Given the description of an element on the screen output the (x, y) to click on. 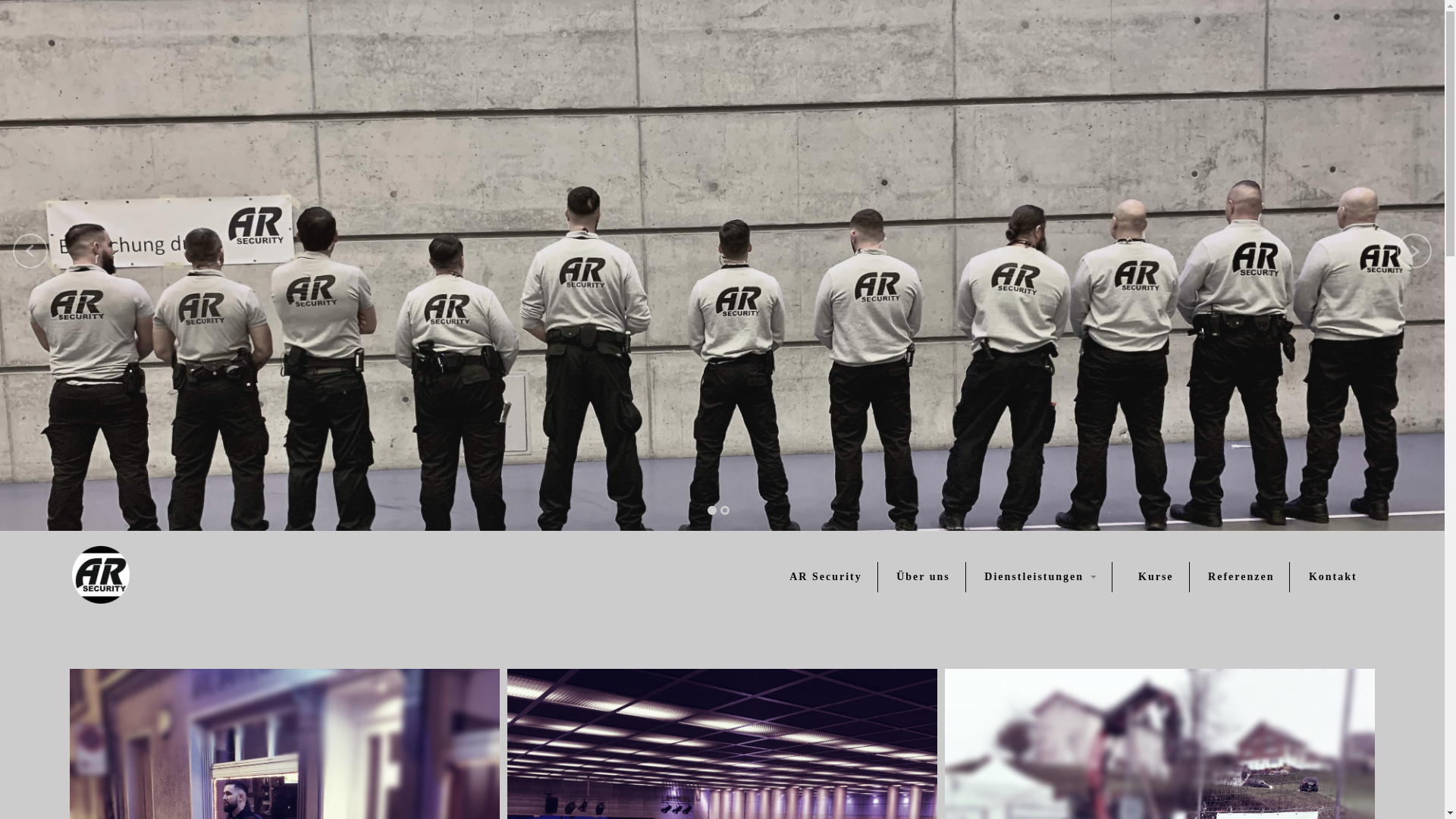
Kontakt Element type: text (1332, 576)
Referenzen Element type: text (1240, 576)
Kurse Element type: text (1156, 576)
AR Security Element type: text (825, 576)
